Given the description of an element on the screen output the (x, y) to click on. 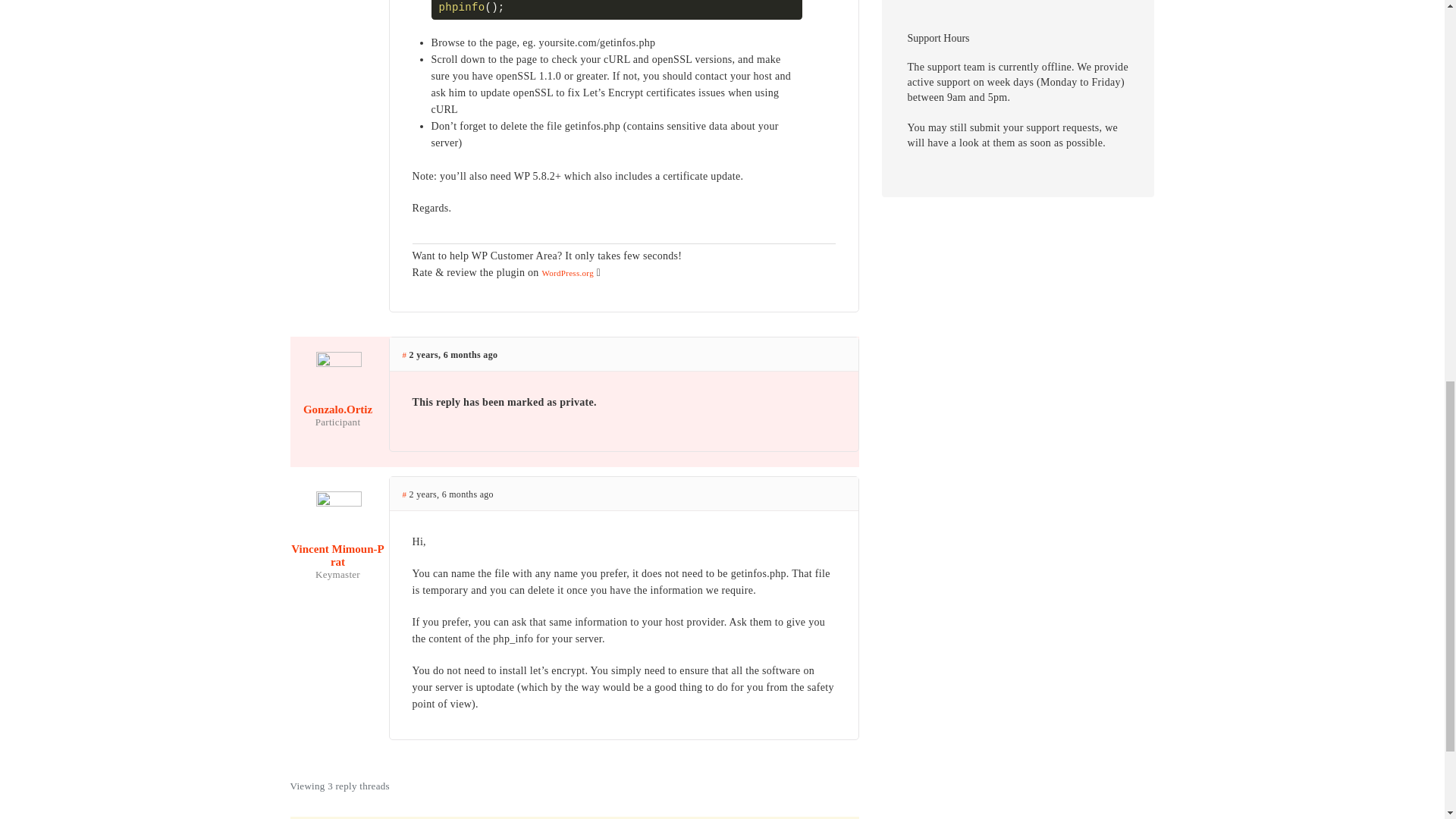
Gonzalo.Ortiz (337, 397)
View Vincent Mimoun-Prat's profile (337, 543)
View gonzalo.ortiz's profile (337, 397)
Vincent Mimoun-Prat (337, 543)
WordPress.org (567, 272)
